Given the description of an element on the screen output the (x, y) to click on. 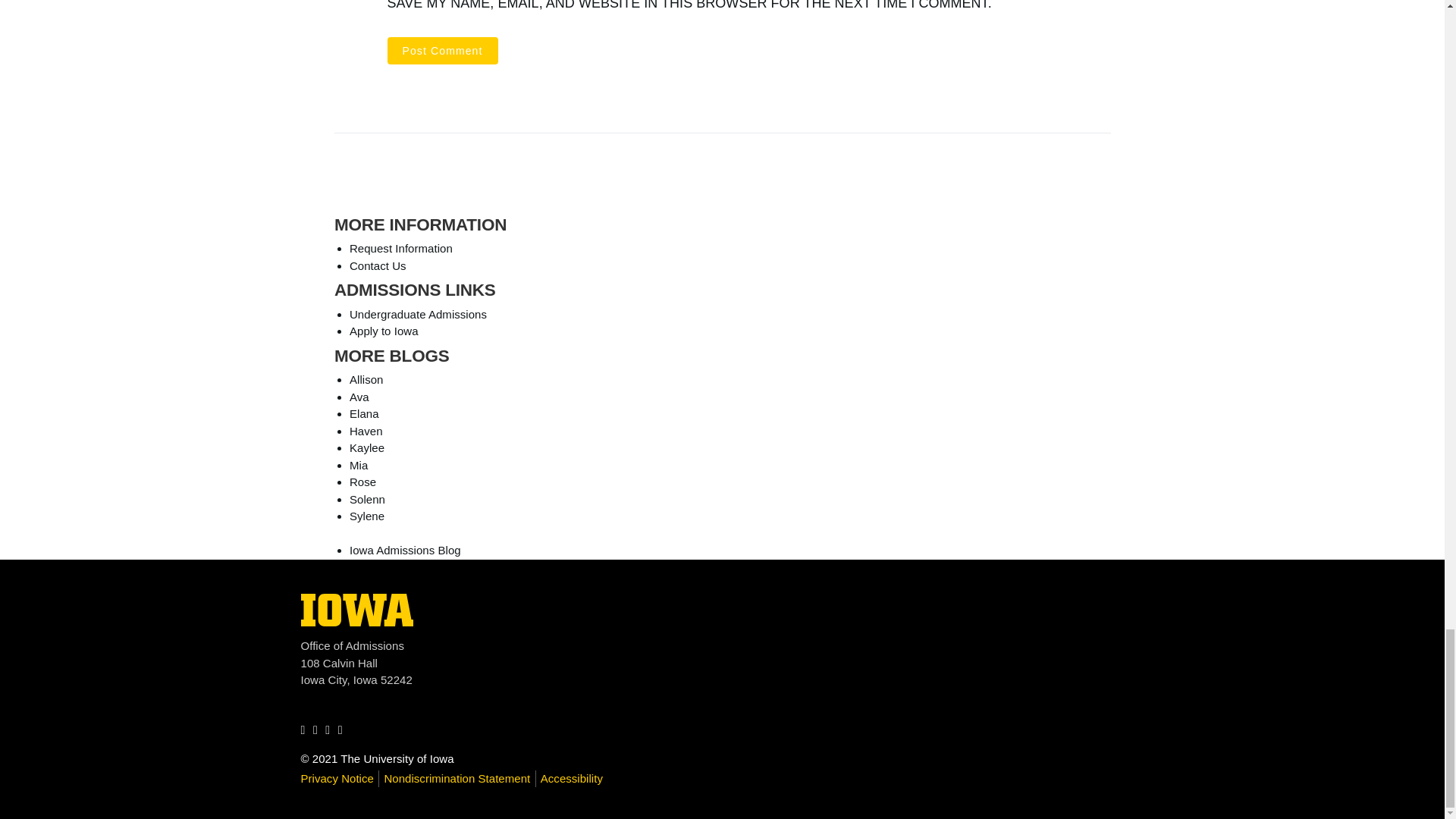
Sylene (366, 515)
Undergraduate Admissions (356, 621)
Contact Us (417, 314)
Iowa Admissions Blog (377, 265)
Ava (405, 549)
Elana (359, 396)
Youtube (363, 413)
Instagram (343, 730)
Accessibility (330, 730)
